Given the description of an element on the screen output the (x, y) to click on. 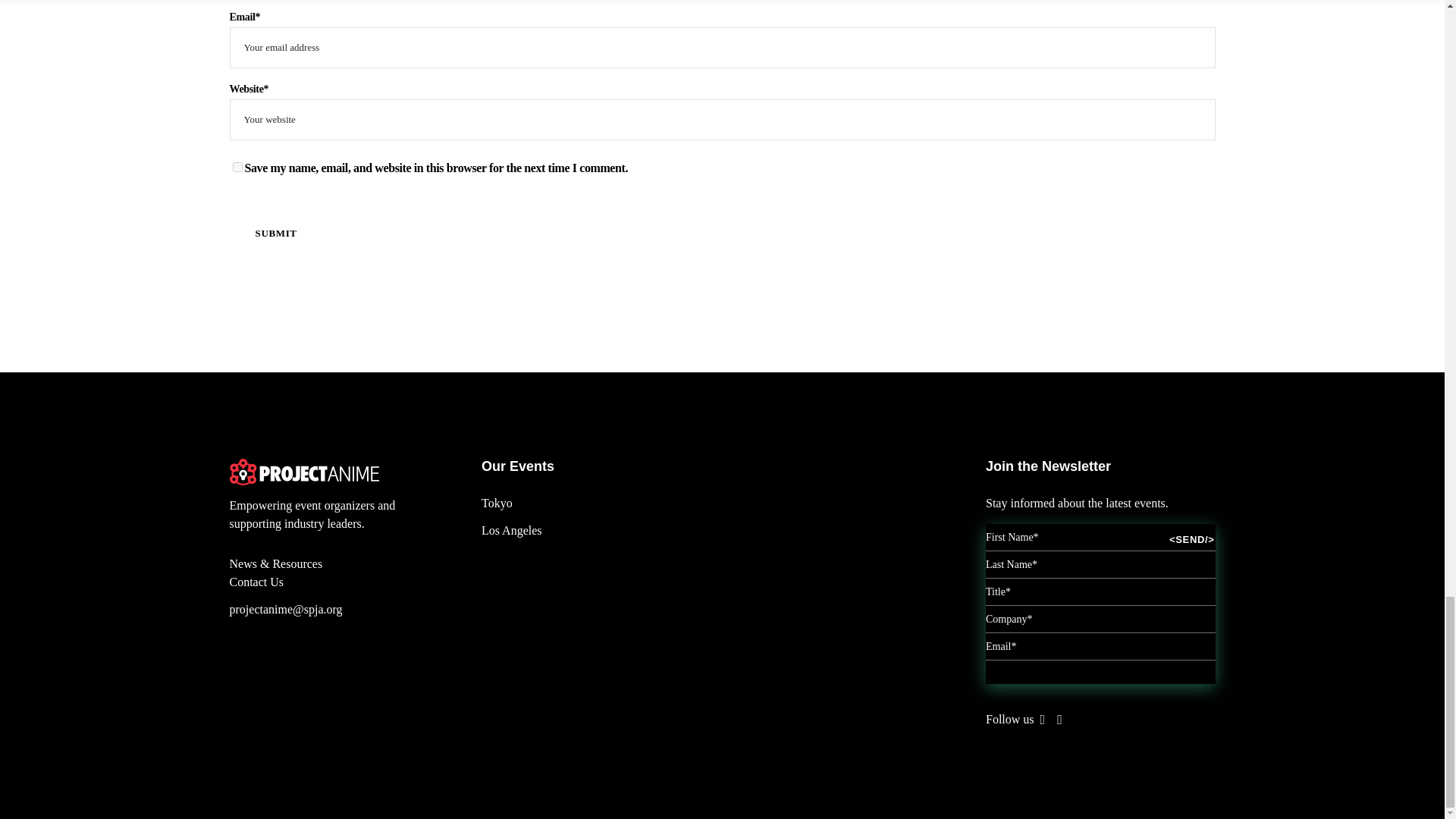
Submit (274, 233)
yes (236, 166)
